Given the description of an element on the screen output the (x, y) to click on. 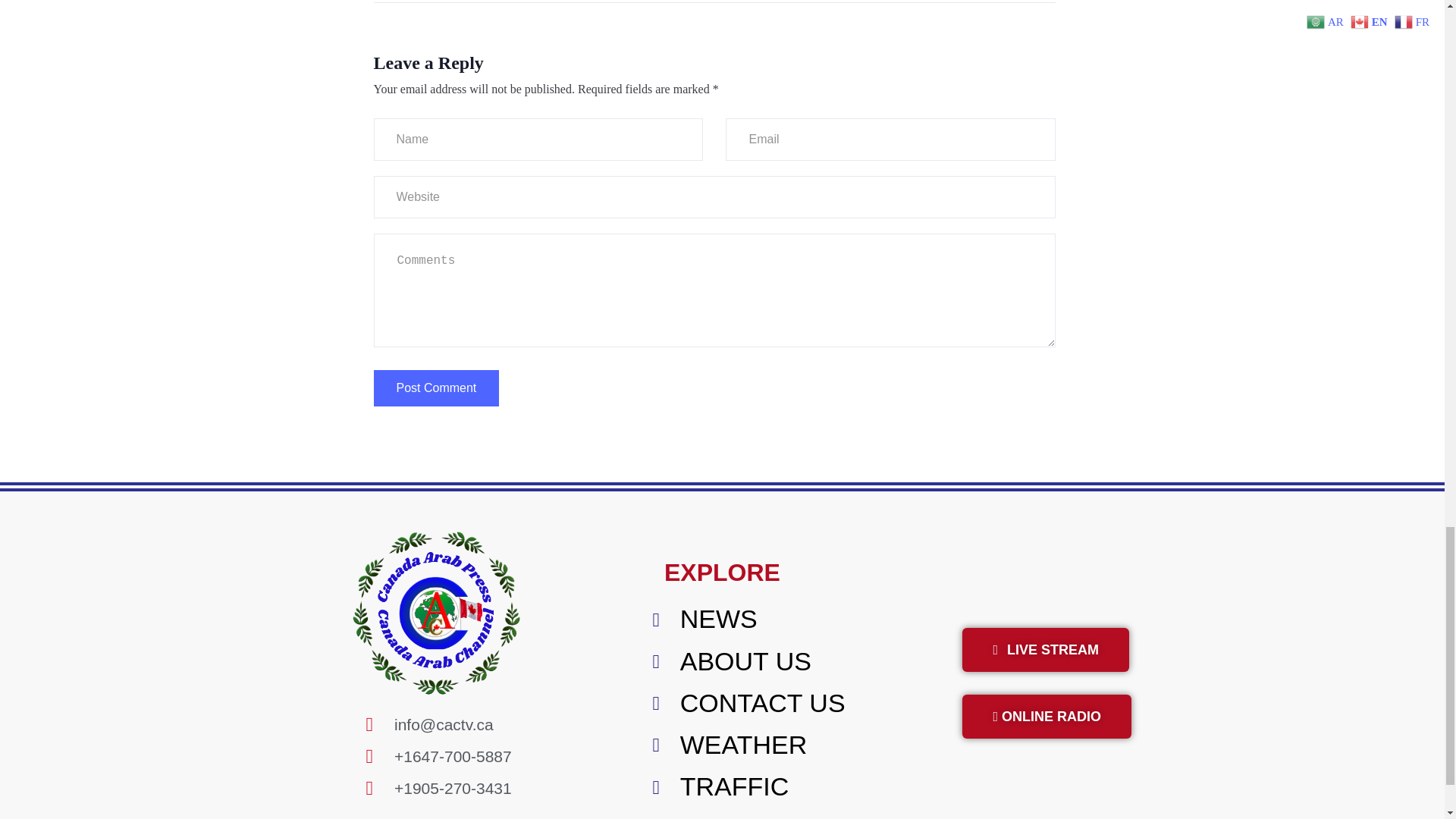
Post Comment (435, 388)
